Given the description of an element on the screen output the (x, y) to click on. 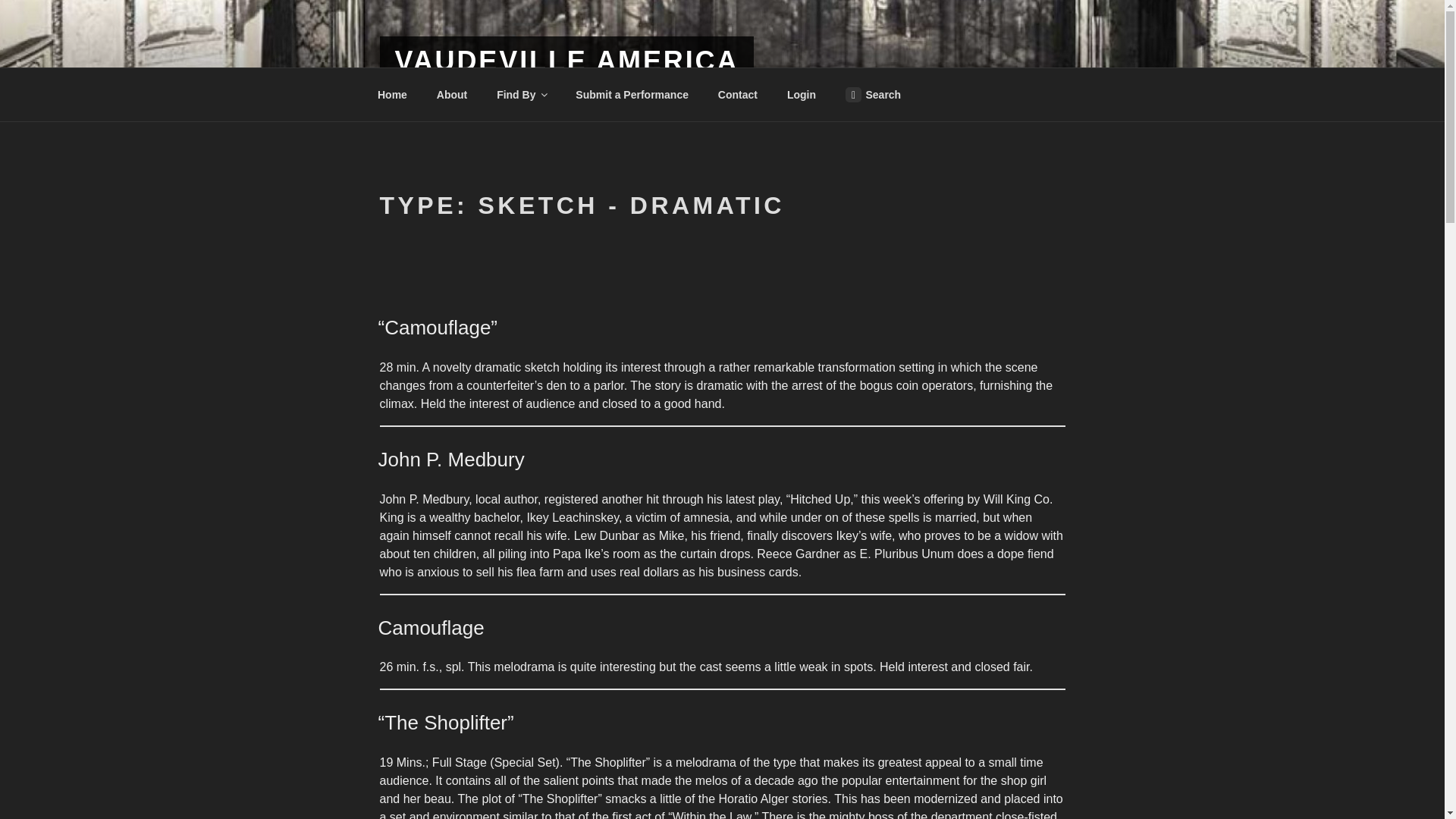
Submit a Performance (631, 94)
Find By (521, 94)
Contact (737, 94)
About (451, 94)
Camouflage (430, 627)
VAUDEVILLE AMERICA (566, 60)
Home (392, 94)
Login (800, 94)
John P. Medbury (450, 458)
Search (872, 94)
